Given the description of an element on the screen output the (x, y) to click on. 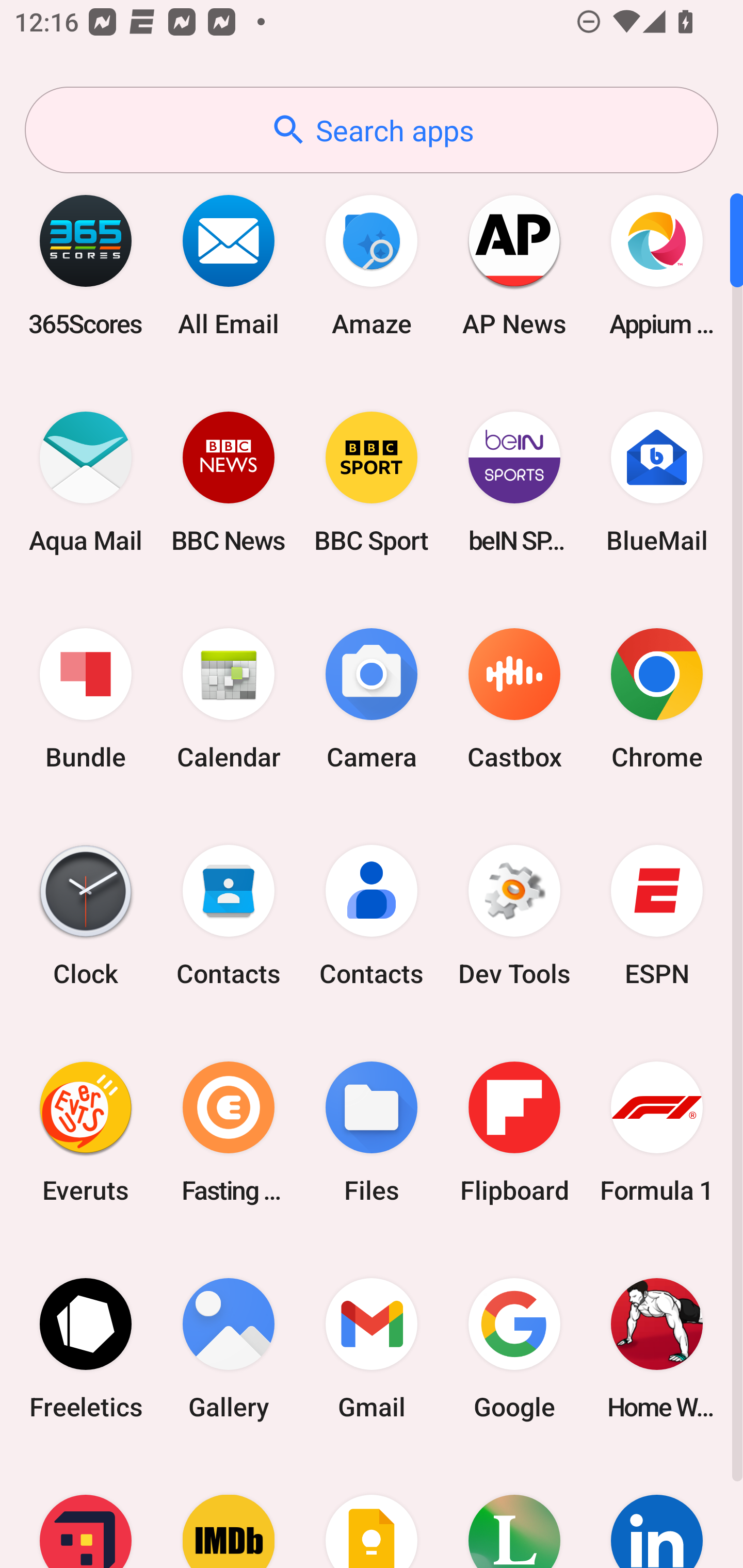
  Search apps (371, 130)
365Scores (85, 264)
All Email (228, 264)
Amaze (371, 264)
AP News (514, 264)
Appium Settings (656, 264)
Aqua Mail (85, 482)
BBC News (228, 482)
BBC Sport (371, 482)
beIN SPORTS (514, 482)
BlueMail (656, 482)
Bundle (85, 699)
Calendar (228, 699)
Camera (371, 699)
Castbox (514, 699)
Chrome (656, 699)
Clock (85, 915)
Contacts (228, 915)
Contacts (371, 915)
Dev Tools (514, 915)
ESPN (656, 915)
Everuts (85, 1131)
Fasting Coach (228, 1131)
Files (371, 1131)
Flipboard (514, 1131)
Formula 1 (656, 1131)
Freeletics (85, 1348)
Gallery (228, 1348)
Gmail (371, 1348)
Google (514, 1348)
Home Workout (656, 1348)
Hotels.com (85, 1512)
IMDb (228, 1512)
Keep Notes (371, 1512)
Lifesum (514, 1512)
LinkedIn (656, 1512)
